Given the description of an element on the screen output the (x, y) to click on. 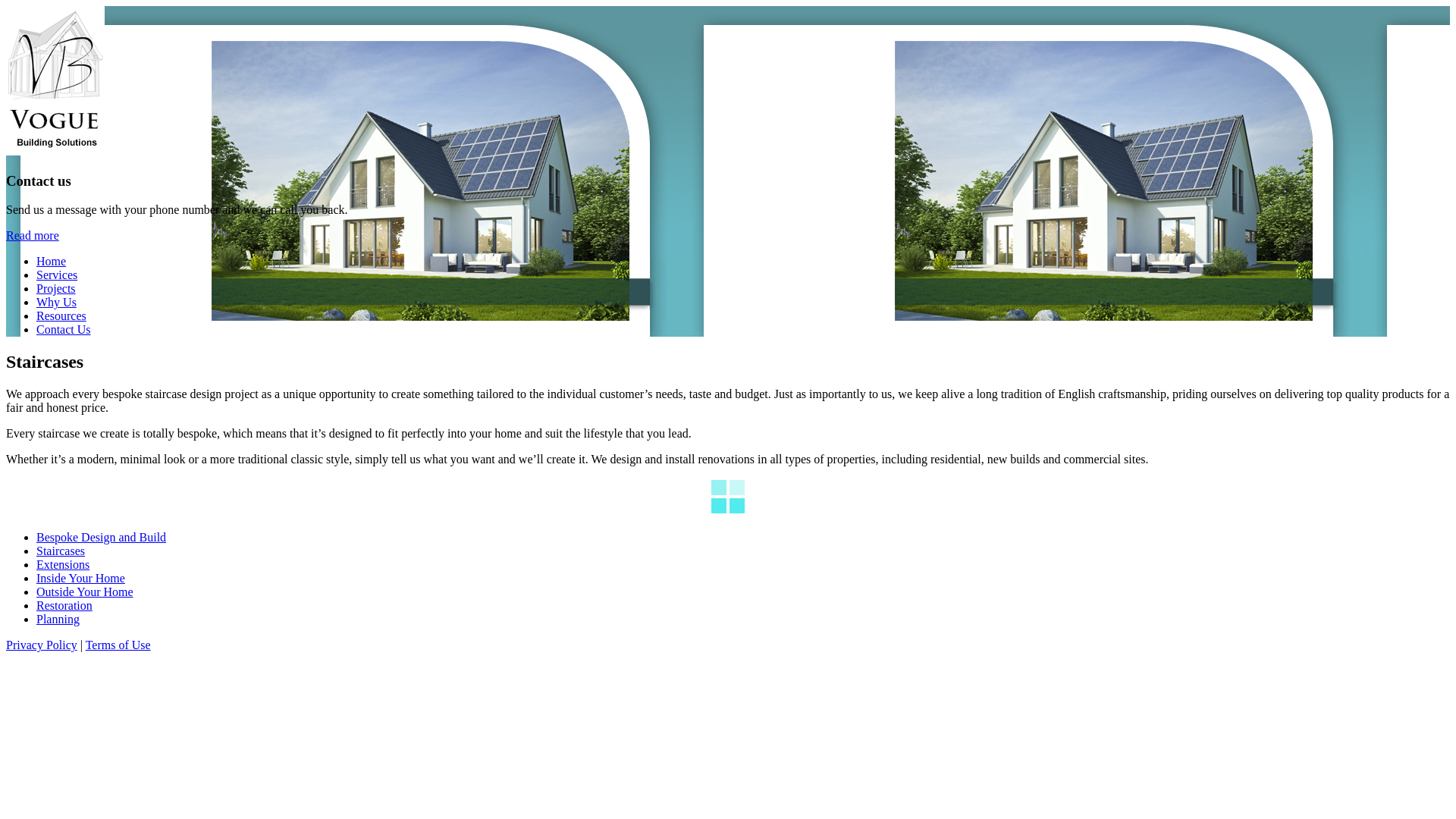
Home Element type: text (50, 260)
Contact Us Element type: text (63, 329)
Projects Element type: text (55, 288)
Services Element type: text (56, 274)
Terms of Use Element type: text (117, 644)
Read more Element type: text (32, 235)
Inside Your Home Element type: text (80, 577)
Staircases Element type: text (60, 550)
Planning Element type: text (57, 618)
Privacy Policy Element type: text (41, 644)
Outside Your Home Element type: text (84, 591)
Resources Element type: text (61, 315)
Restoration Element type: text (64, 605)
Extensions Element type: text (62, 564)
Why Us Element type: text (56, 301)
Bespoke Design and Build Element type: text (101, 536)
